Given the description of an element on the screen output the (x, y) to click on. 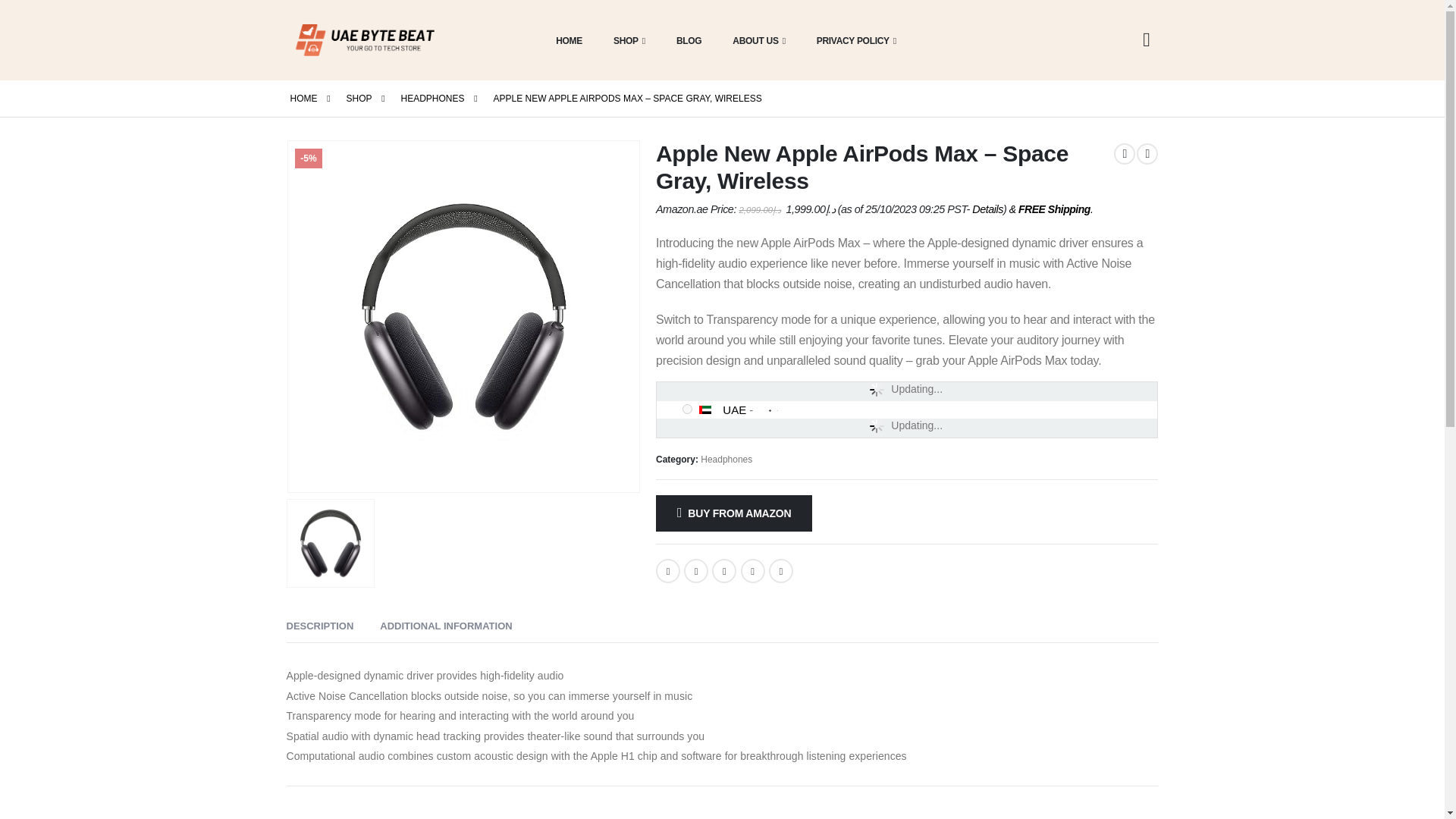
Email (780, 570)
Twitter (695, 570)
on (687, 409)
SHOP (358, 98)
New-Apple-AirPods-Max-Space-Gray-Wireless (464, 316)
UAE (733, 409)
UAE (710, 409)
SHOP (625, 39)
Facebook (667, 570)
PRIVACY POLICY (853, 39)
